Given the description of an element on the screen output the (x, y) to click on. 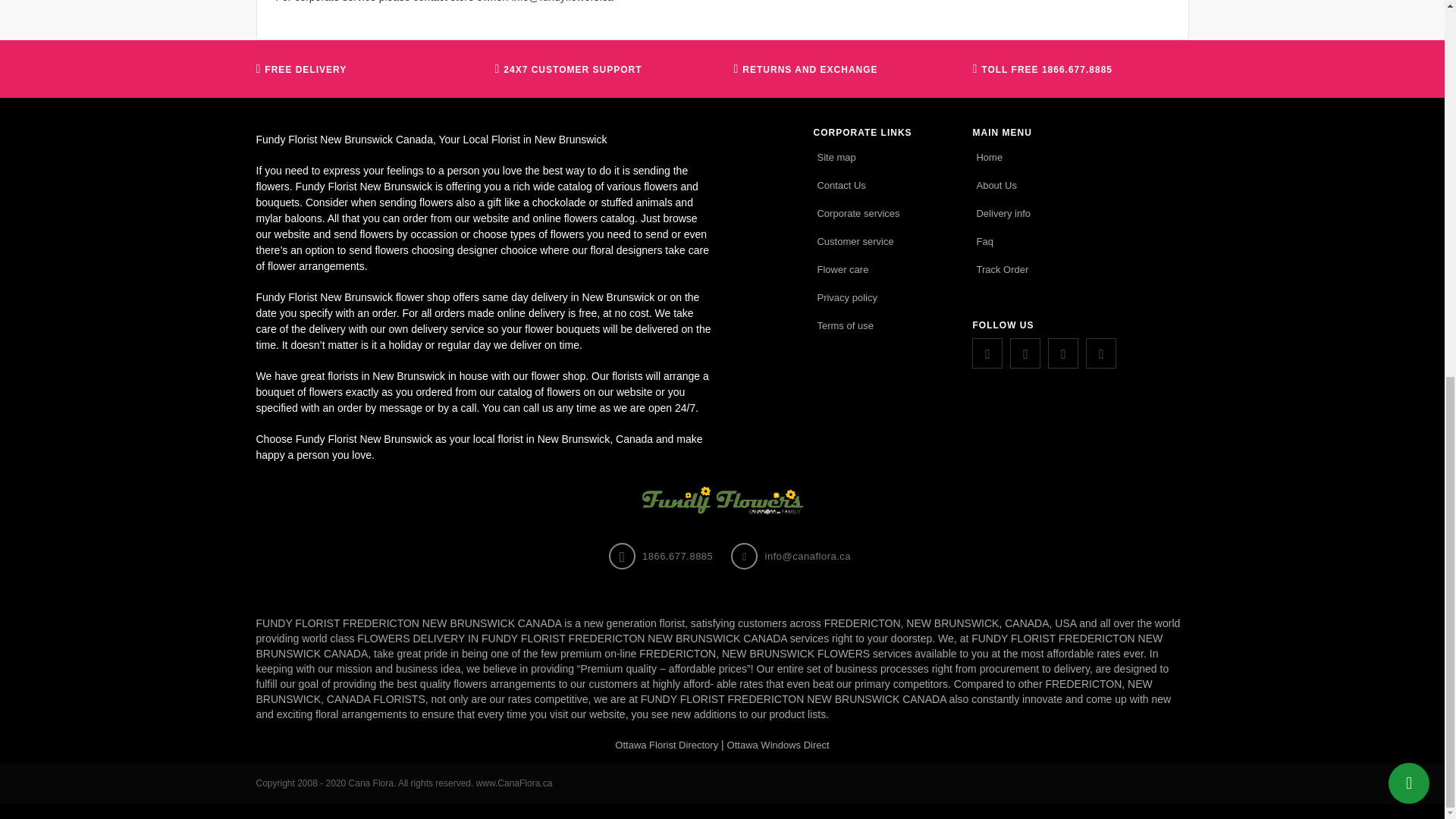
Site map (836, 157)
Ottawa Windows Direct (777, 744)
Contact Us (840, 185)
Corporate services (857, 213)
Customer service (854, 241)
Ottawa Florist Directory (665, 744)
